Given the description of an element on the screen output the (x, y) to click on. 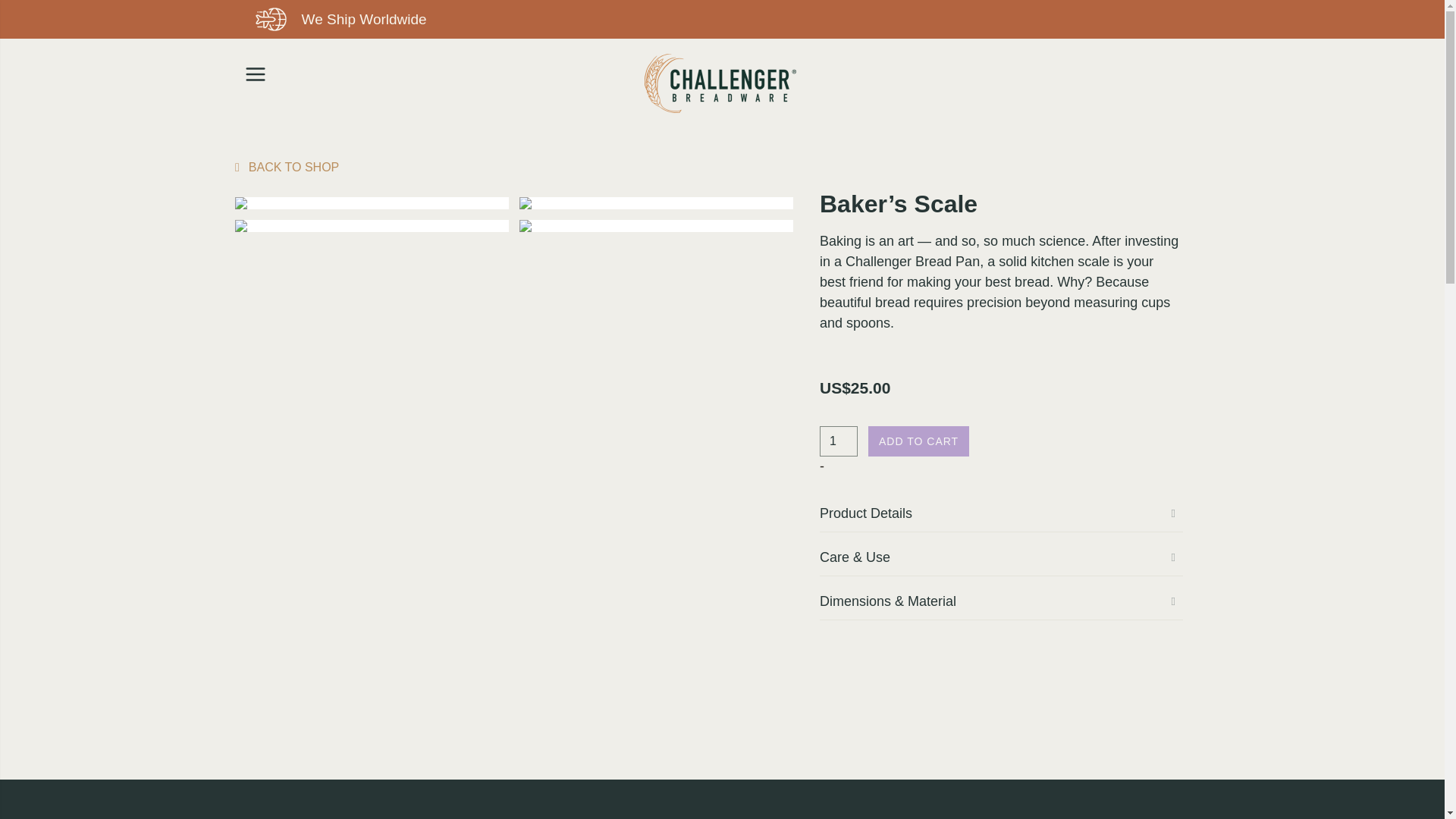
Bakers-Scale-Thin-1 (656, 203)
1 (838, 440)
Challenger-Bakers-scale-salt-sprinkle (525, 225)
Bakers-Scale-Top-1 (240, 203)
Bakers-Scale-CloseUp-1 (371, 225)
Bakers-Scale-CloseUp-1 (240, 225)
Bakers-Scale-Top-1 (371, 203)
Bakers-Scale-Thin-1 (525, 203)
Challenger-Bakers-scale-salt-sprinkle (656, 225)
